Given the description of an element on the screen output the (x, y) to click on. 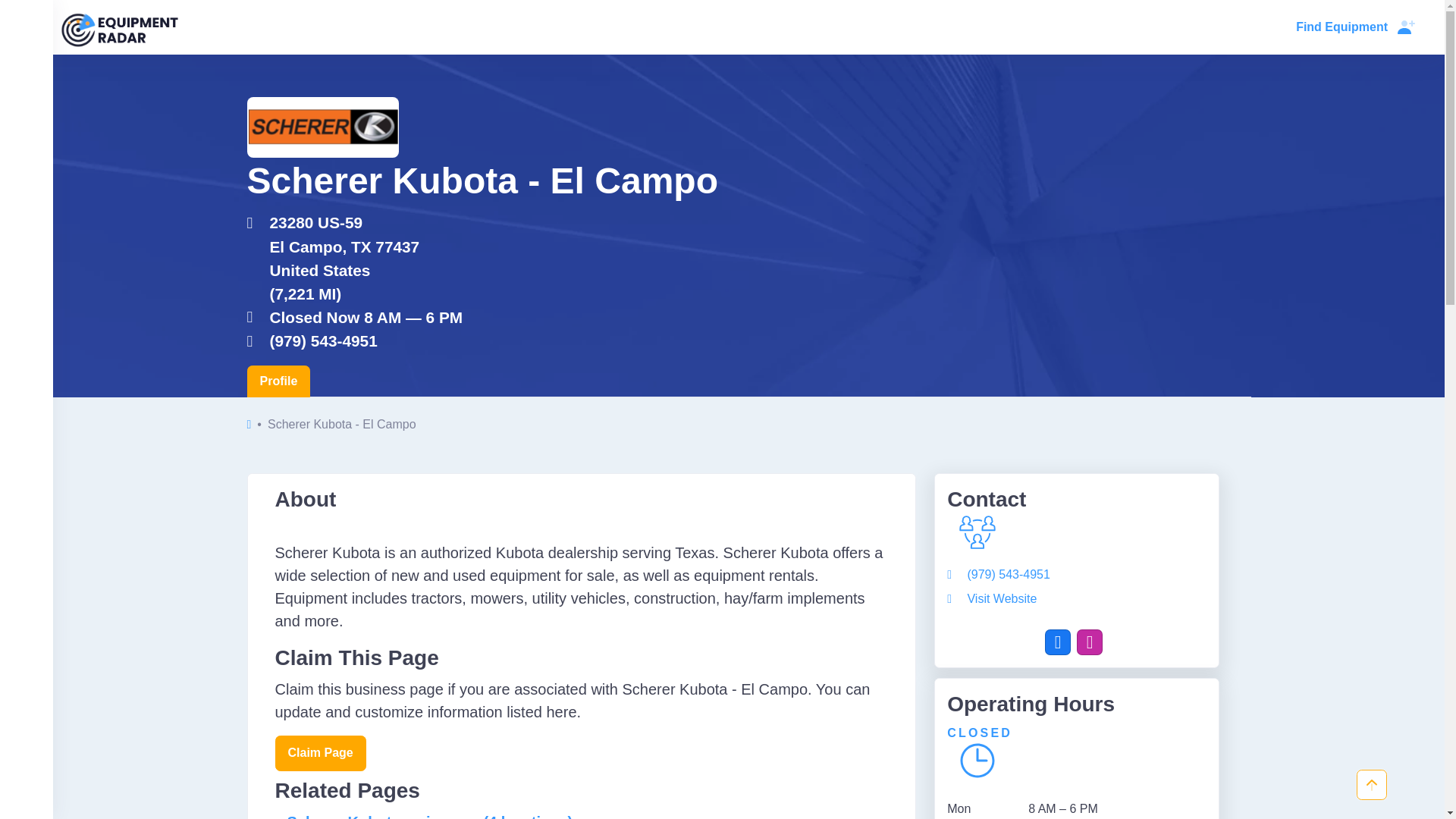
Find Equipment (1341, 27)
23280 US-59 (482, 222)
United States (482, 269)
Visit Website (991, 598)
Claim Page (320, 753)
Scherer Kubota - El Campo (322, 127)
Profile (279, 381)
El Campo, TX 77437 (482, 246)
